Given the description of an element on the screen output the (x, y) to click on. 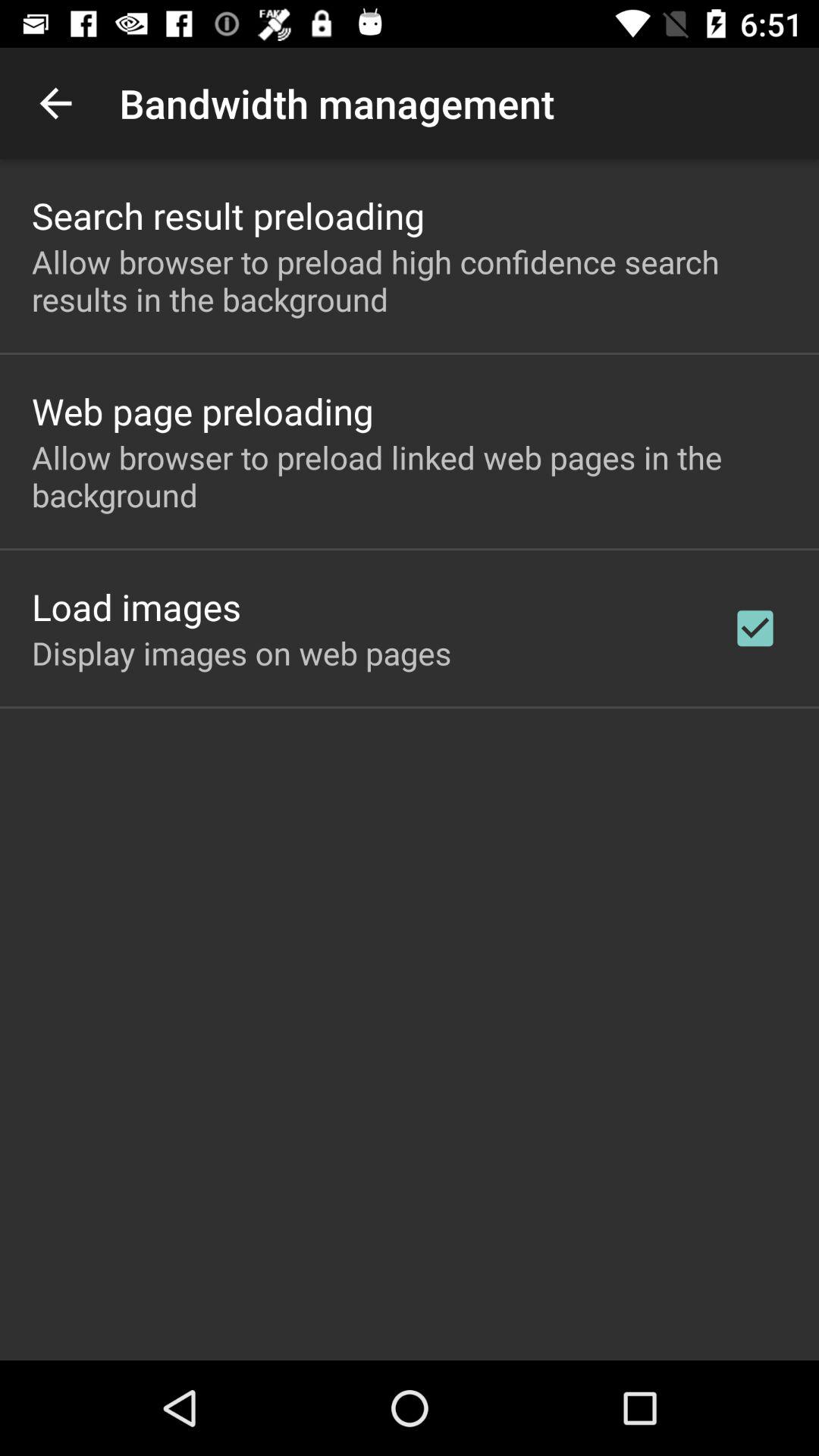
select app below allow browser to (755, 628)
